Given the description of an element on the screen output the (x, y) to click on. 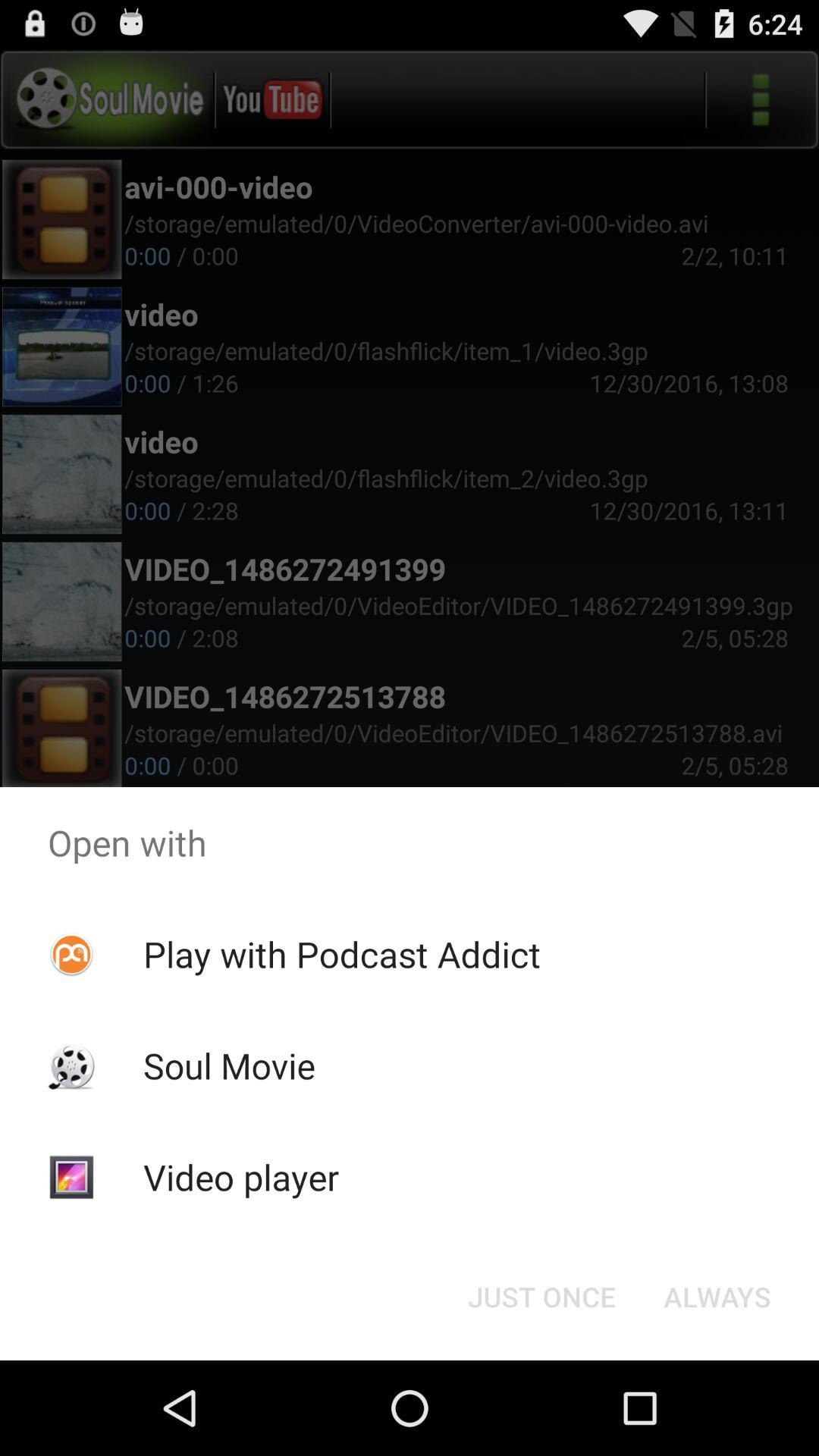
launch the play with podcast icon (341, 953)
